Given the description of an element on the screen output the (x, y) to click on. 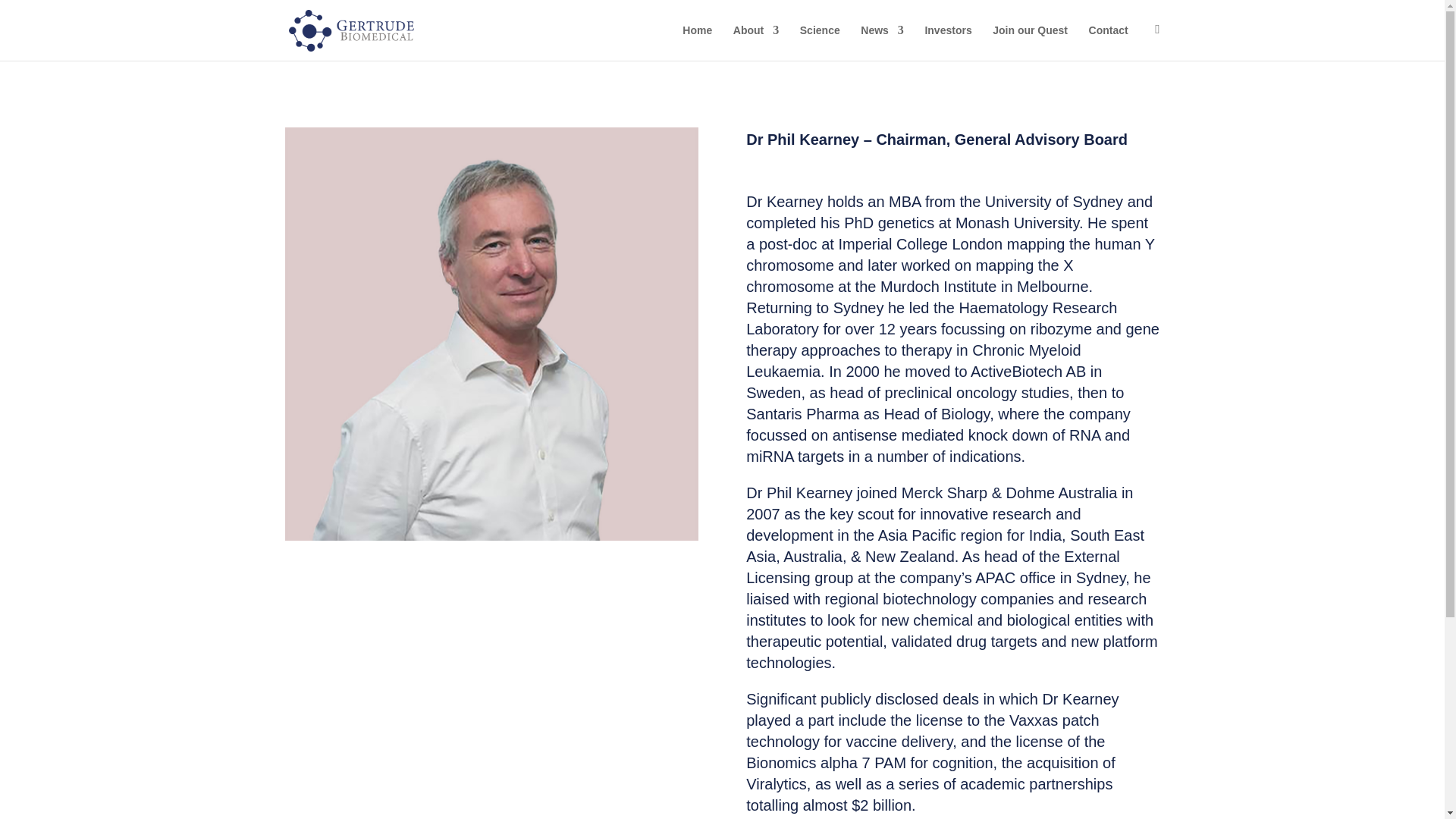
News (882, 42)
About (755, 42)
Contact (1108, 42)
Home (696, 42)
Science (819, 42)
Join our Quest (1029, 42)
Investors (947, 42)
